Given the description of an element on the screen output the (x, y) to click on. 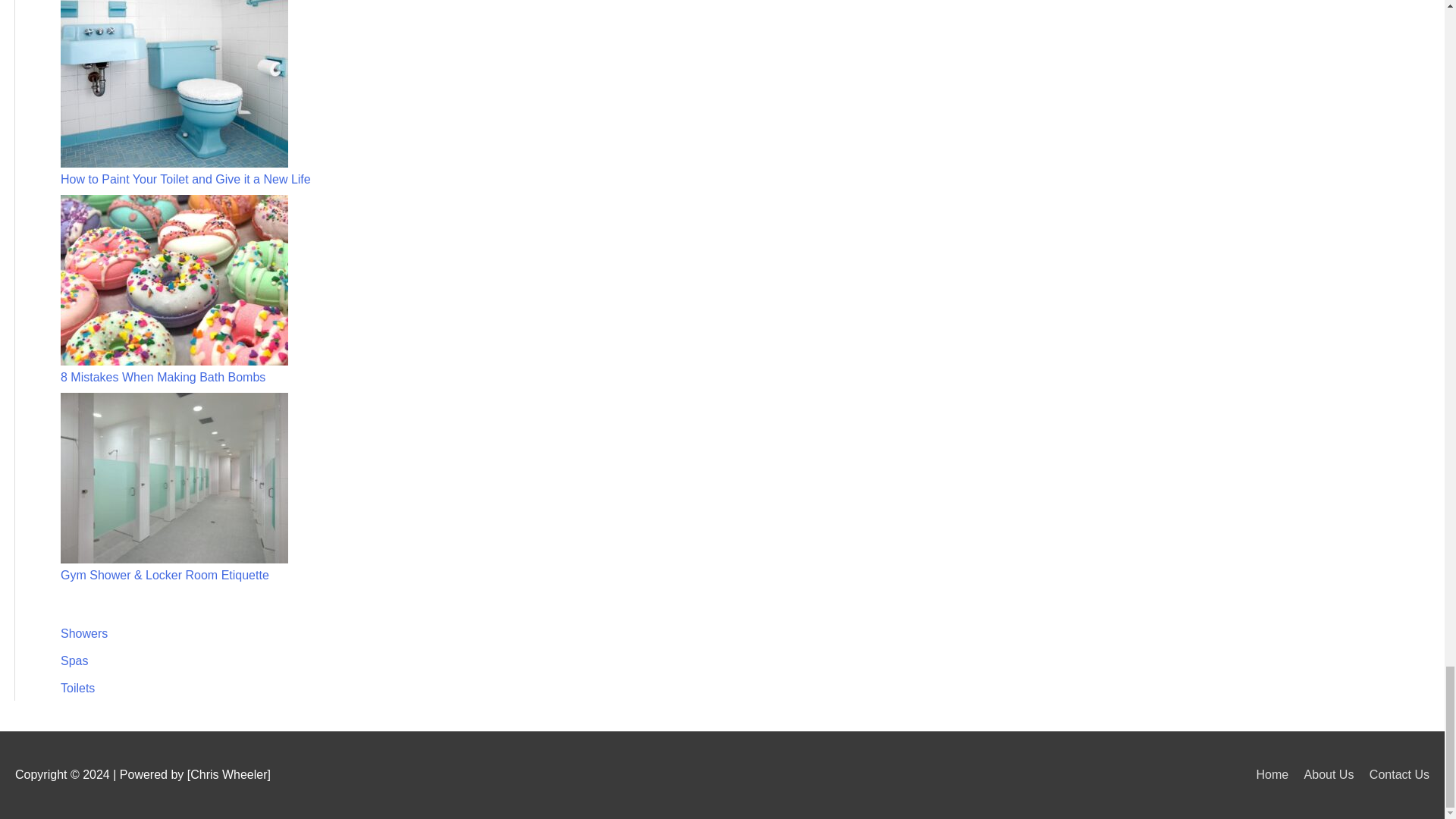
How to Paint Your Toilet and Give it a New Life (186, 178)
Spas (74, 660)
Showers (84, 633)
8 Mistakes When Making Bath Bombs (162, 377)
